Given the description of an element on the screen output the (x, y) to click on. 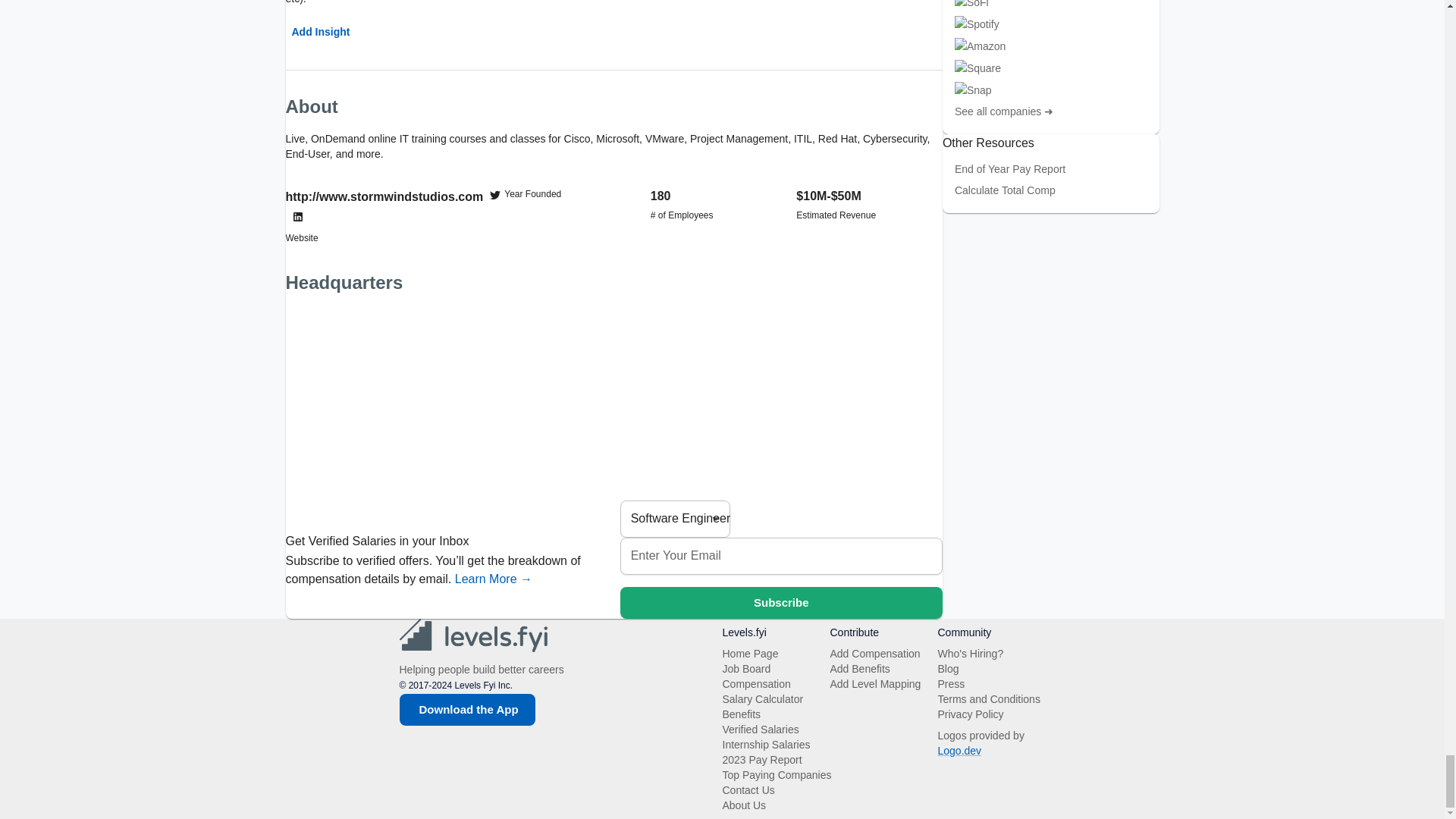
Company Address (613, 401)
